Given the description of an element on the screen output the (x, y) to click on. 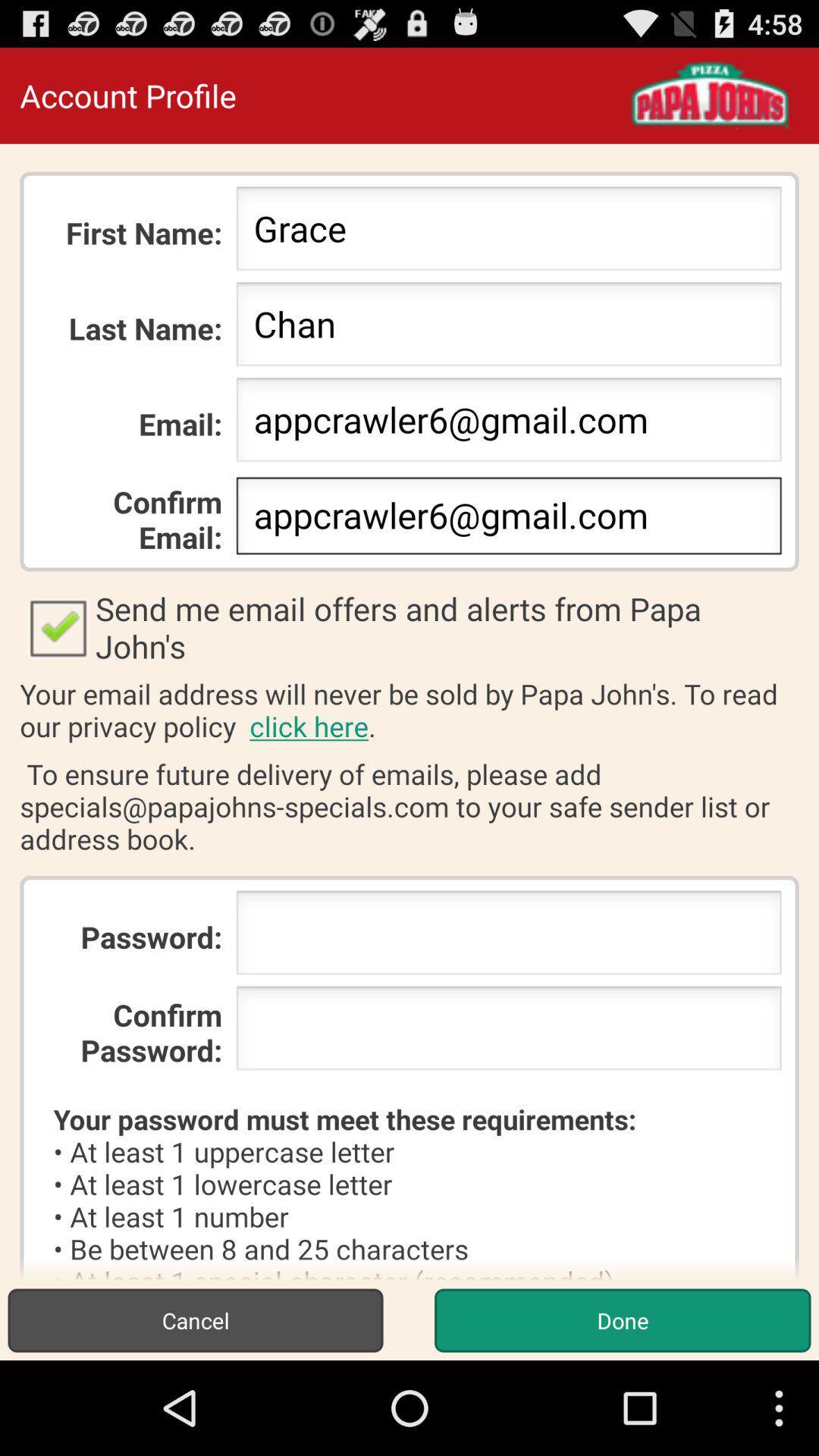
launch app next to the last name: (508, 328)
